Given the description of an element on the screen output the (x, y) to click on. 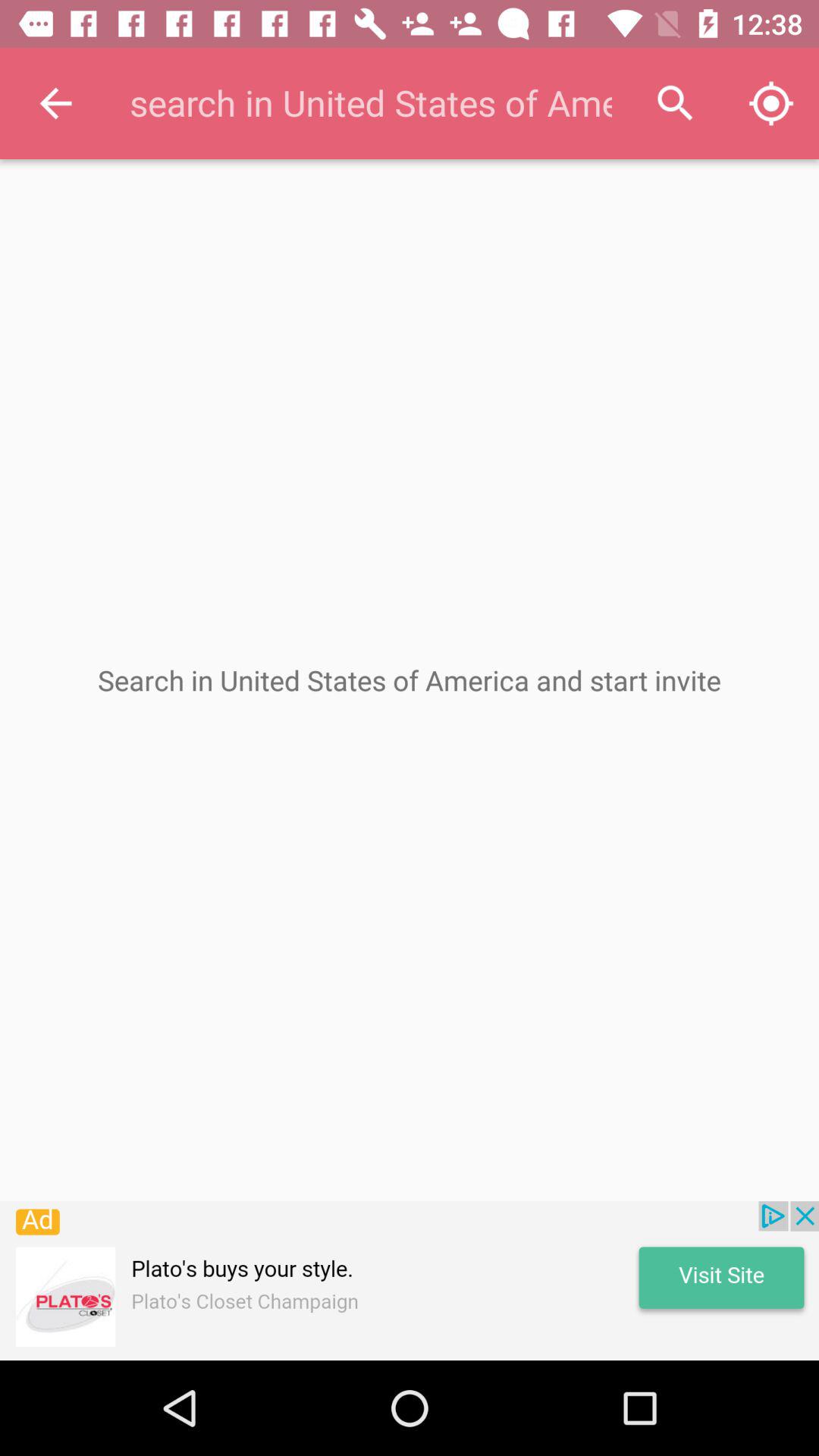
input search query (369, 103)
